Given the description of an element on the screen output the (x, y) to click on. 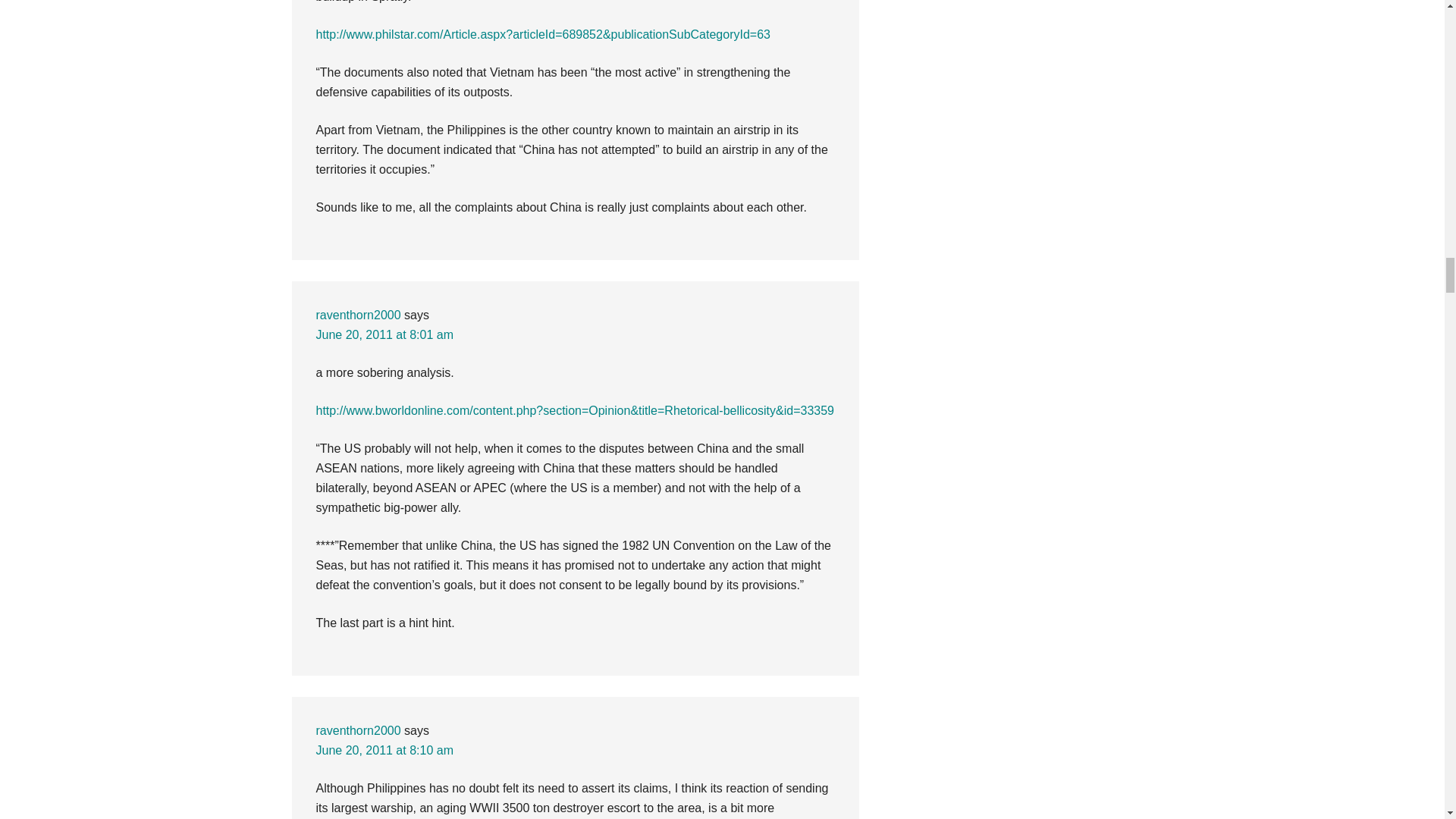
raventhorn2000 (357, 314)
raventhorn2000 (357, 730)
June 20, 2011 at 8:10 am (383, 749)
June 20, 2011 at 8:01 am (383, 334)
